Given the description of an element on the screen output the (x, y) to click on. 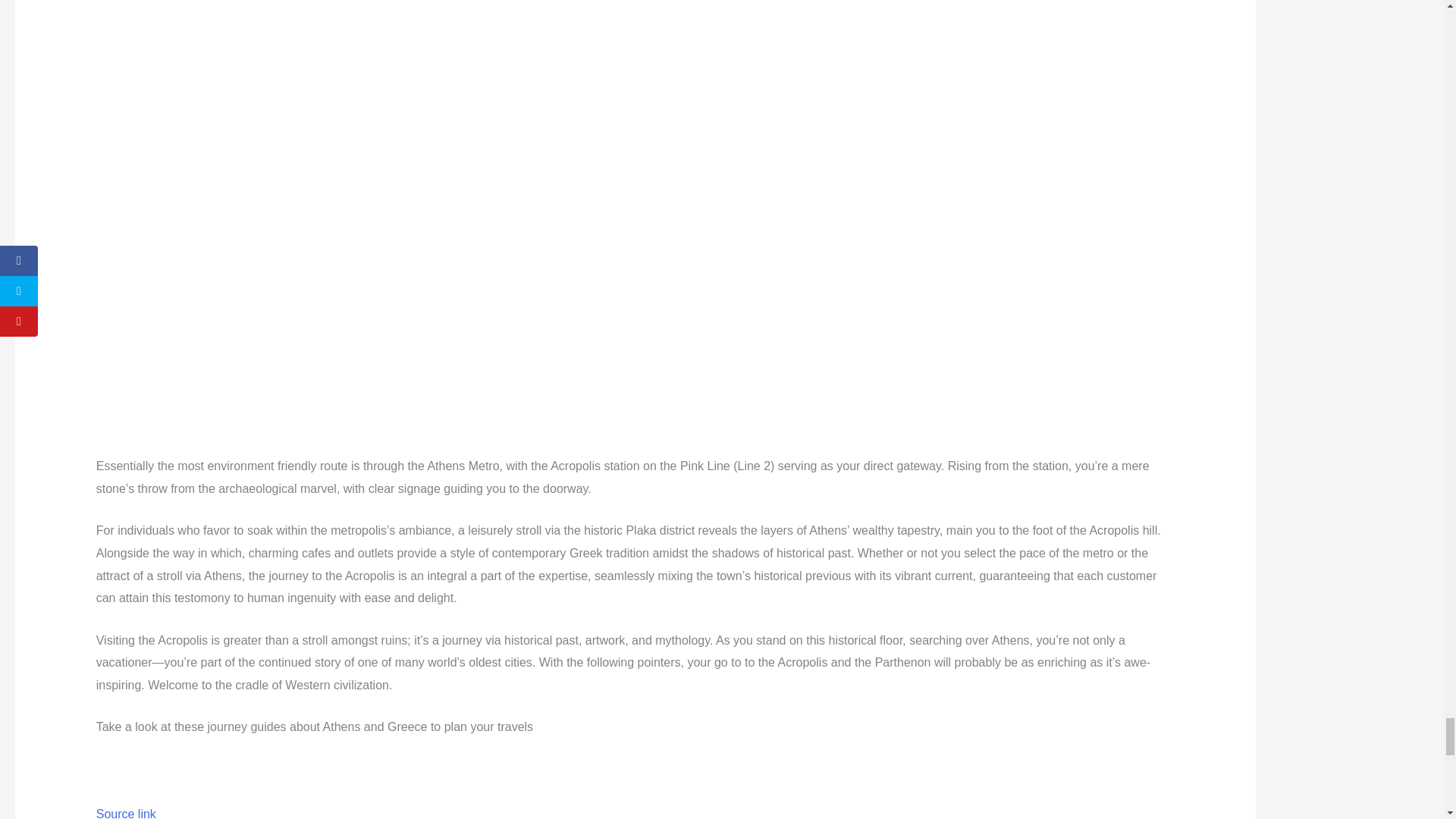
Source link (125, 813)
